Given the description of an element on the screen output the (x, y) to click on. 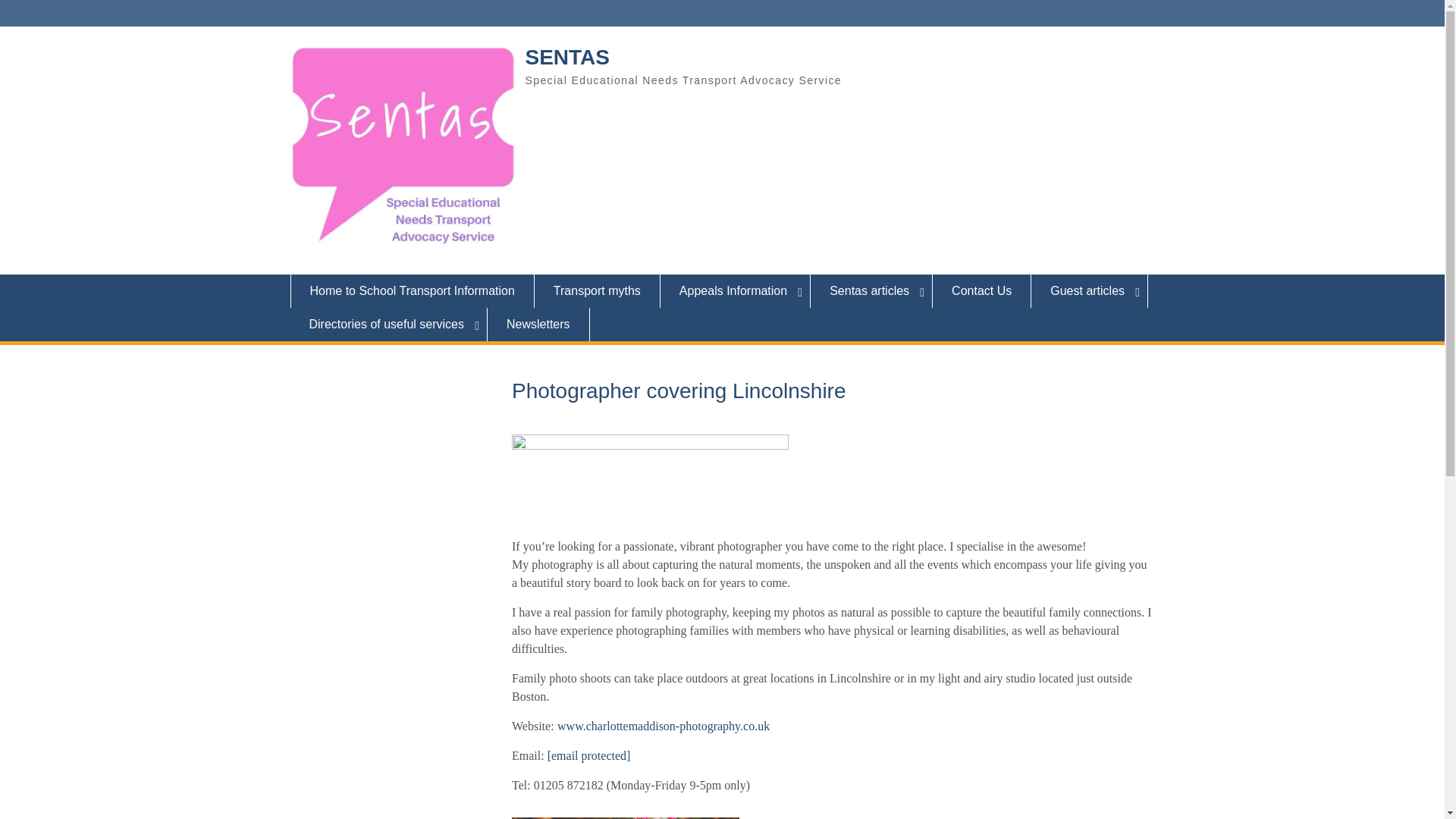
Guest articles (1089, 290)
SENTAS (567, 56)
Appeals Information (735, 290)
Sentas articles (871, 290)
Home to School Transport Information (411, 290)
Contact Us (981, 290)
Directories of useful services (388, 324)
Transport myths (597, 290)
